Given the description of an element on the screen output the (x, y) to click on. 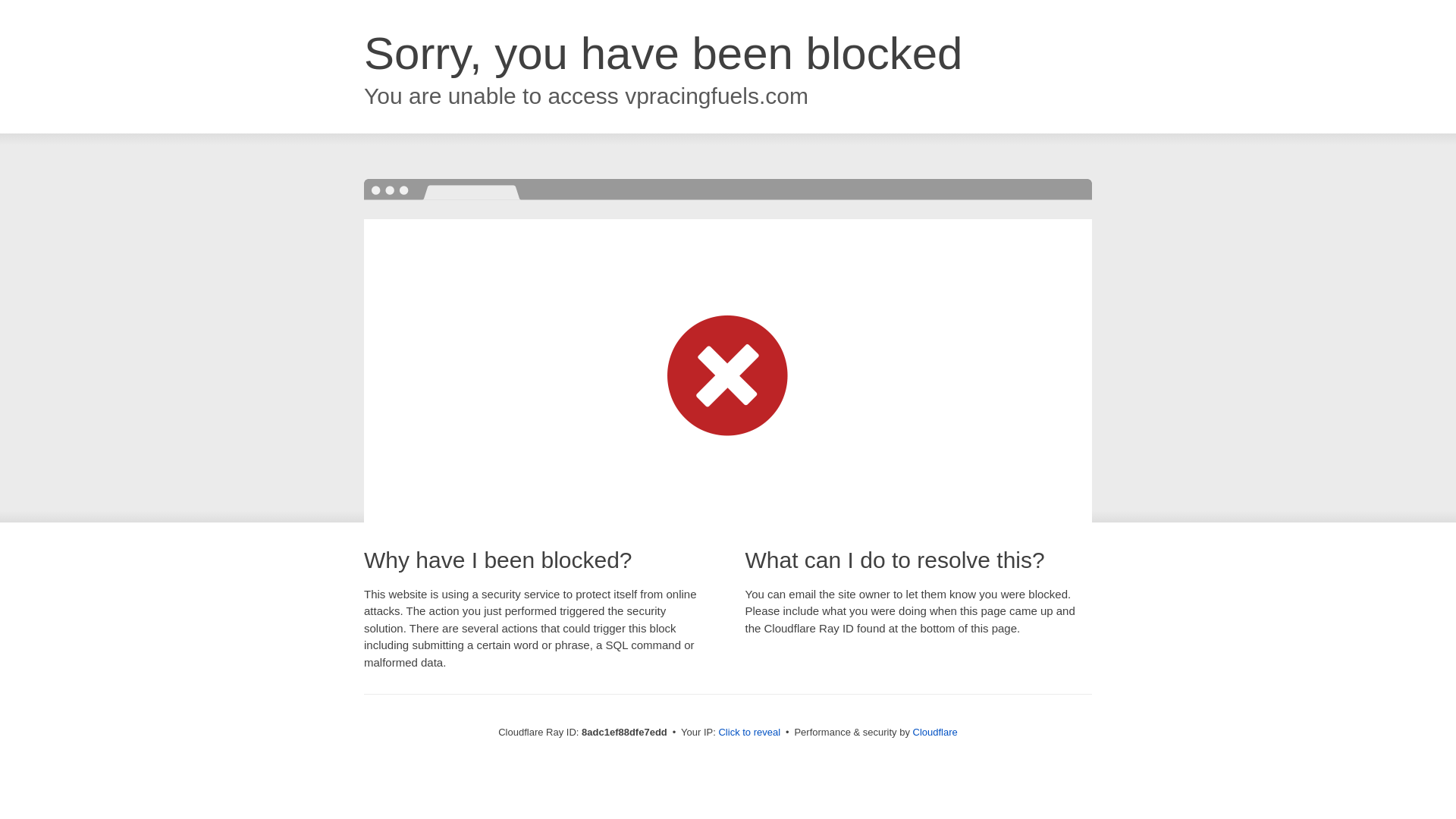
Cloudflare (935, 731)
Click to reveal (748, 732)
